Given the description of an element on the screen output the (x, y) to click on. 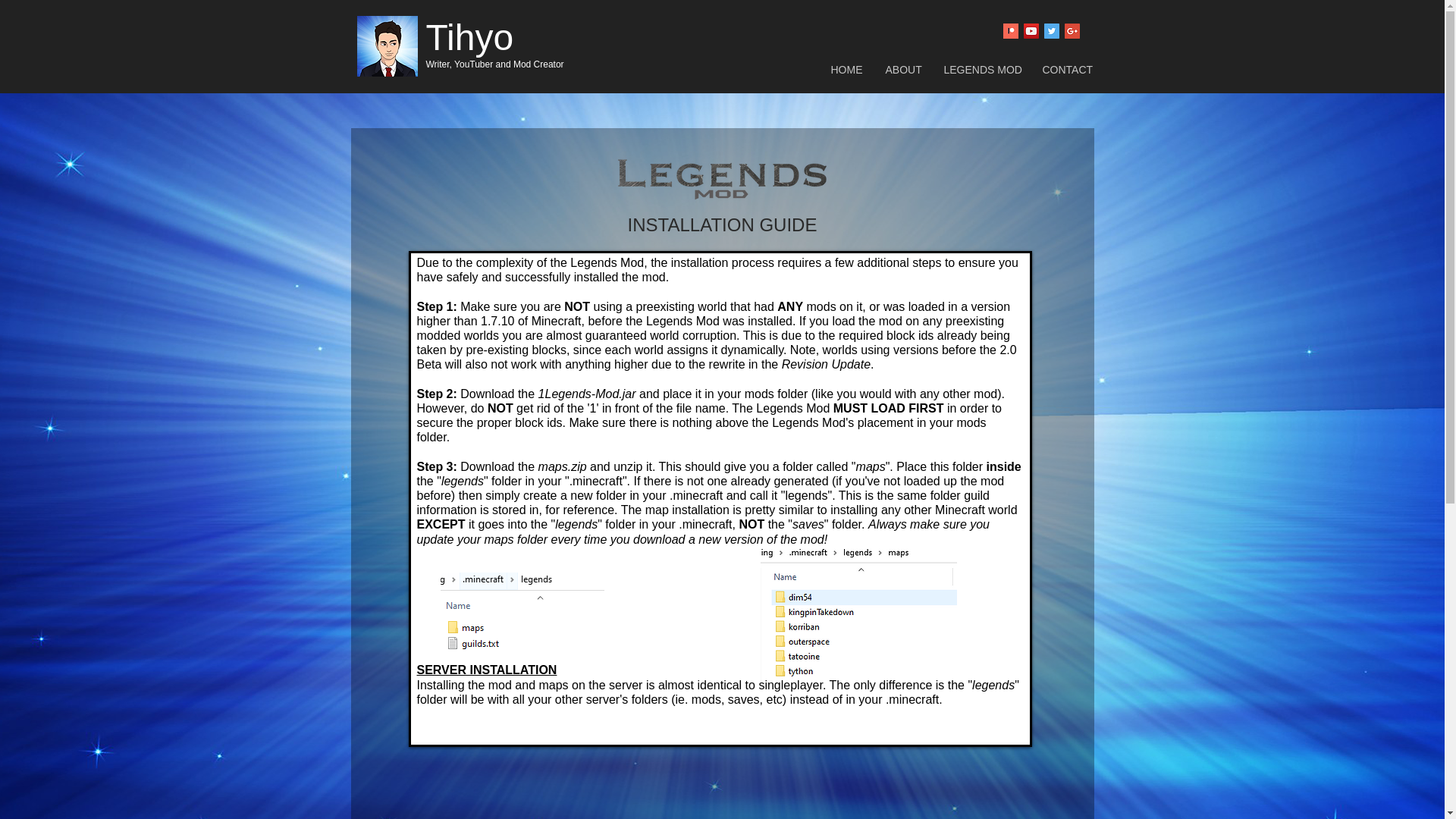
LEGENDS MOD (981, 69)
CONTACT (1066, 69)
Writer, YouTuber and Mod Creator (495, 63)
HOME (845, 69)
ABOUT (902, 69)
Tihyo (469, 36)
